Given the description of an element on the screen output the (x, y) to click on. 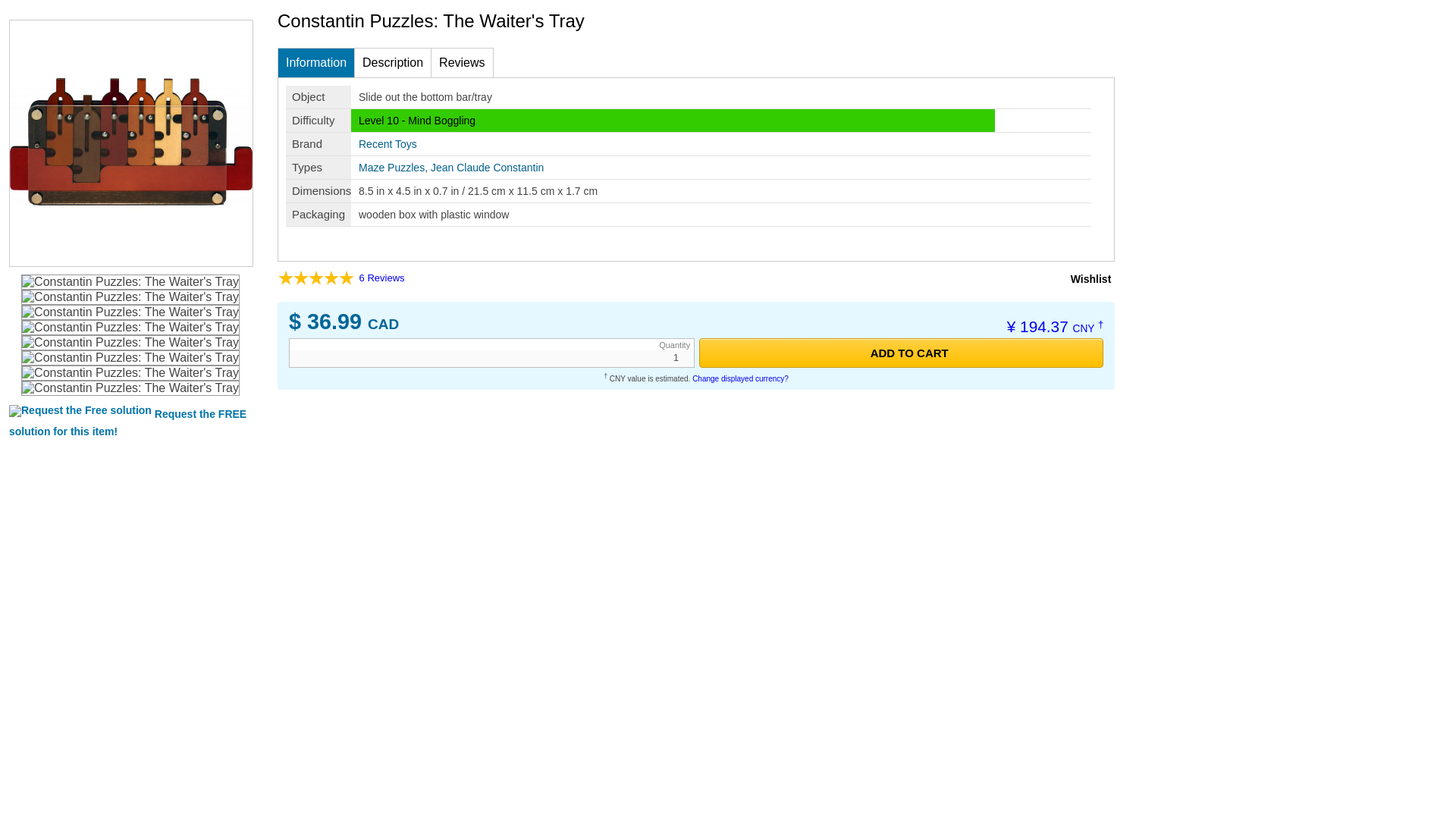
5 out of 5 stars (315, 278)
Constantin Puzzles: The Waiter's Tray (130, 281)
Request the FREE solution for this item! (127, 422)
Constantin Puzzles: The Waiter's Tray (130, 342)
Maze Puzzles (391, 167)
Information (316, 62)
ADD TO CART (900, 352)
Constantin Puzzles: The Waiter's Tray (130, 296)
Reviews (461, 62)
Level 10 - Mind Boggling (417, 120)
